Given the description of an element on the screen output the (x, y) to click on. 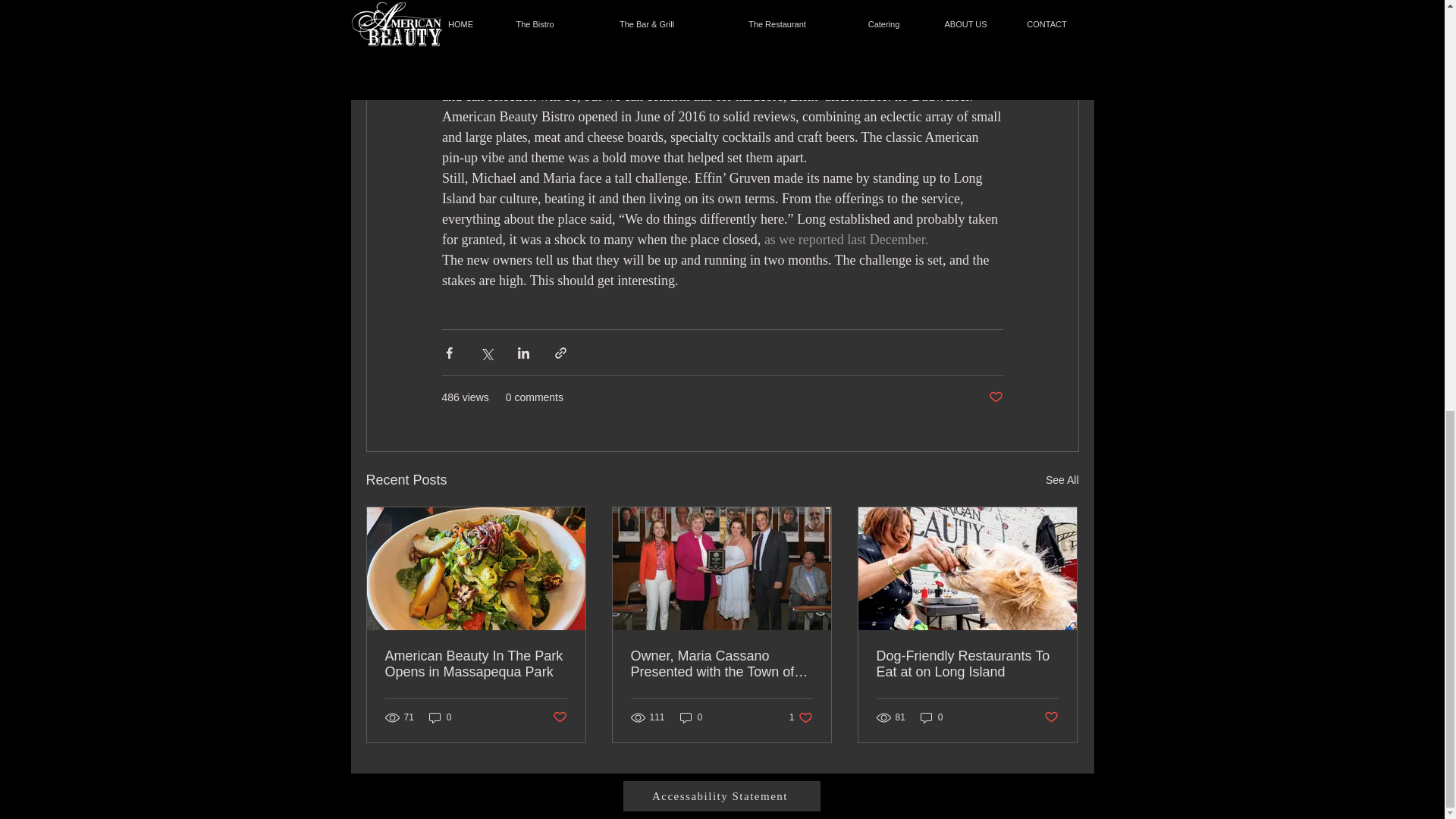
See All (1061, 480)
American Beauty In The Park Opens in Massapequa Park (476, 664)
Post not marked as liked (995, 397)
as we reported last December. (844, 239)
